Given the description of an element on the screen output the (x, y) to click on. 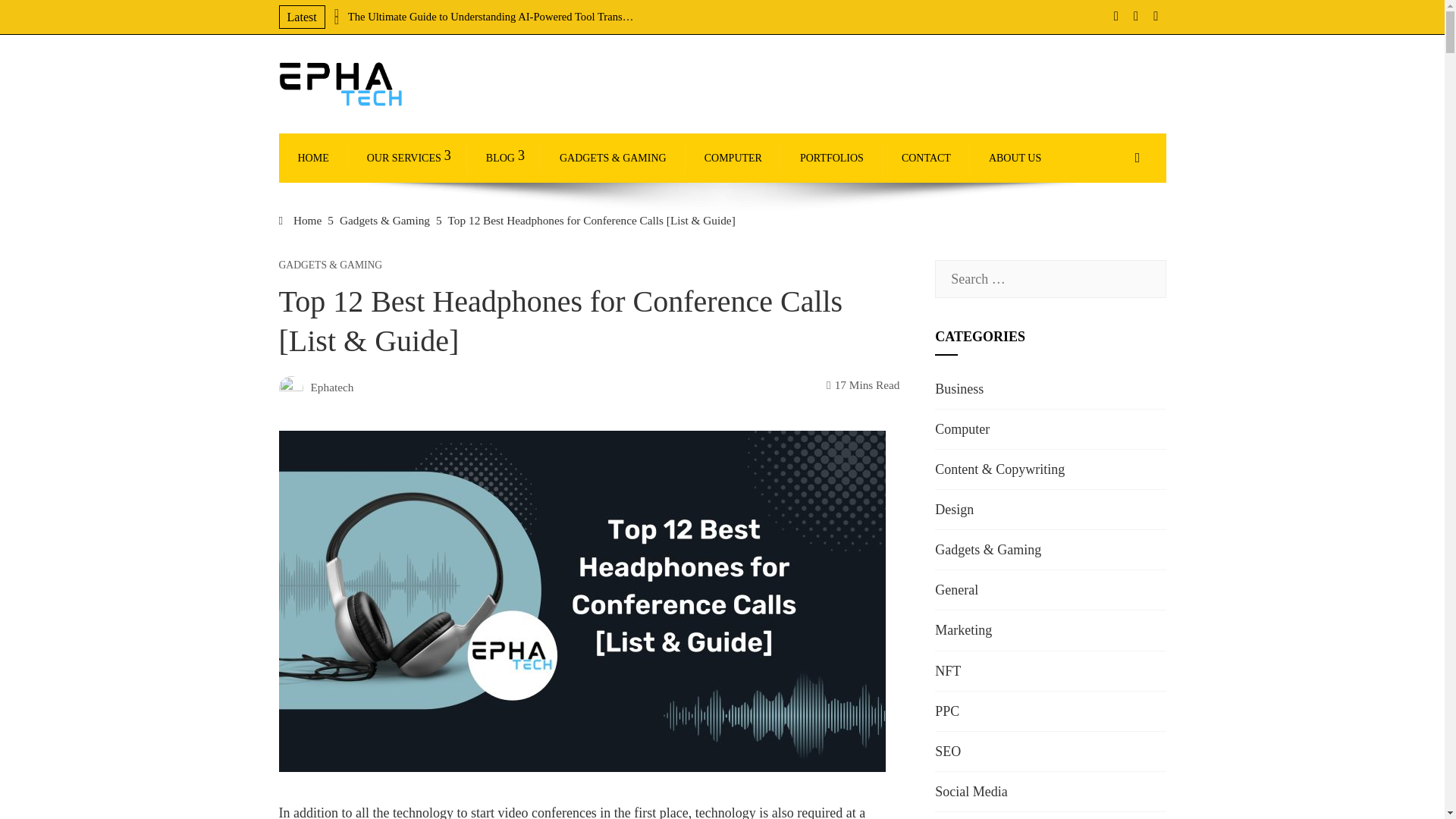
COMPUTER (733, 158)
OUR SERVICES (407, 158)
BLOG (503, 158)
HOME (313, 158)
PORTFOLIOS (832, 158)
